Given the description of an element on the screen output the (x, y) to click on. 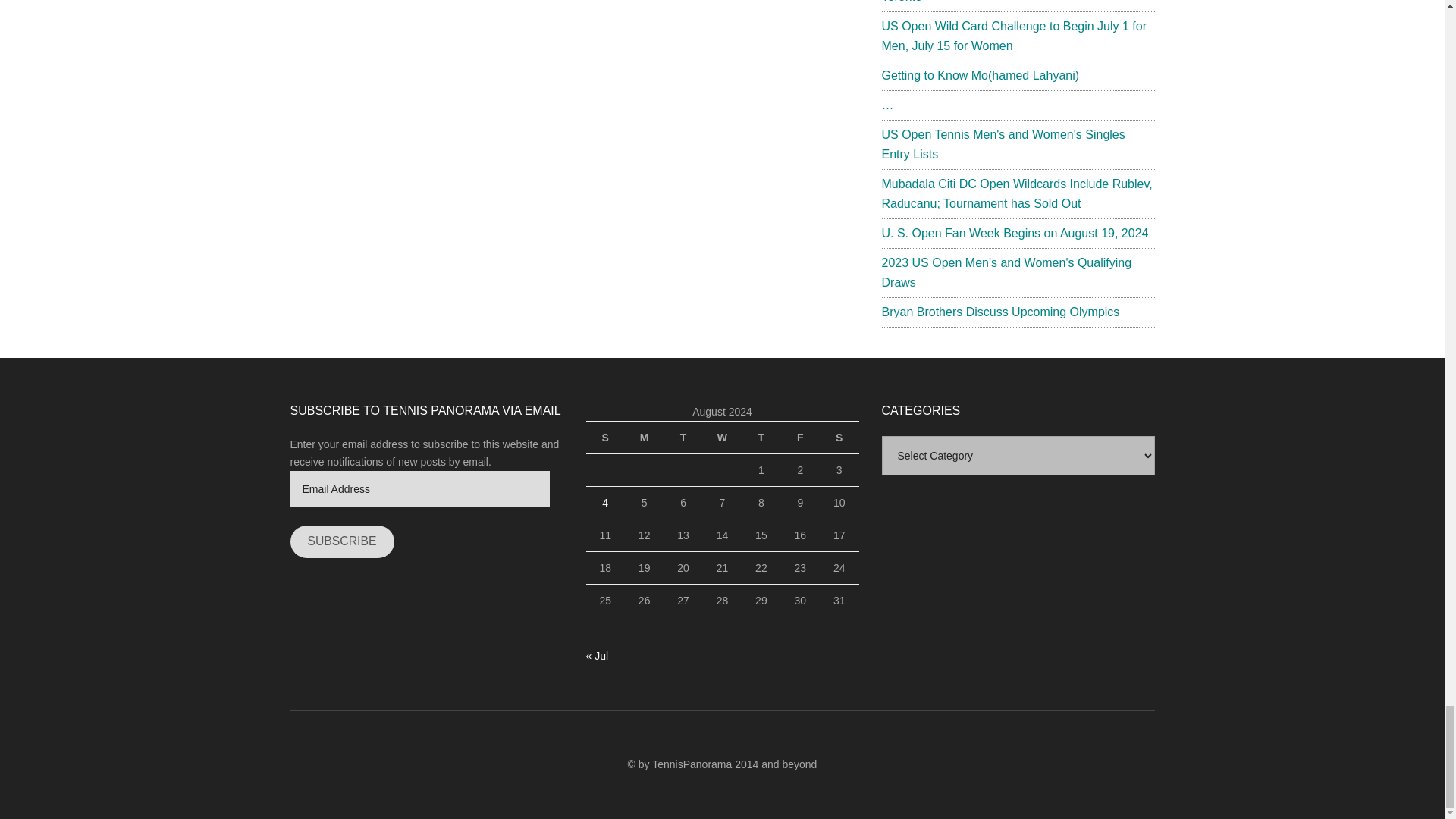
Friday (799, 436)
Monday (643, 436)
Sunday (604, 436)
Thursday (760, 436)
Tuesday (682, 436)
Wednesday (722, 436)
Saturday (839, 436)
